Given the description of an element on the screen output the (x, y) to click on. 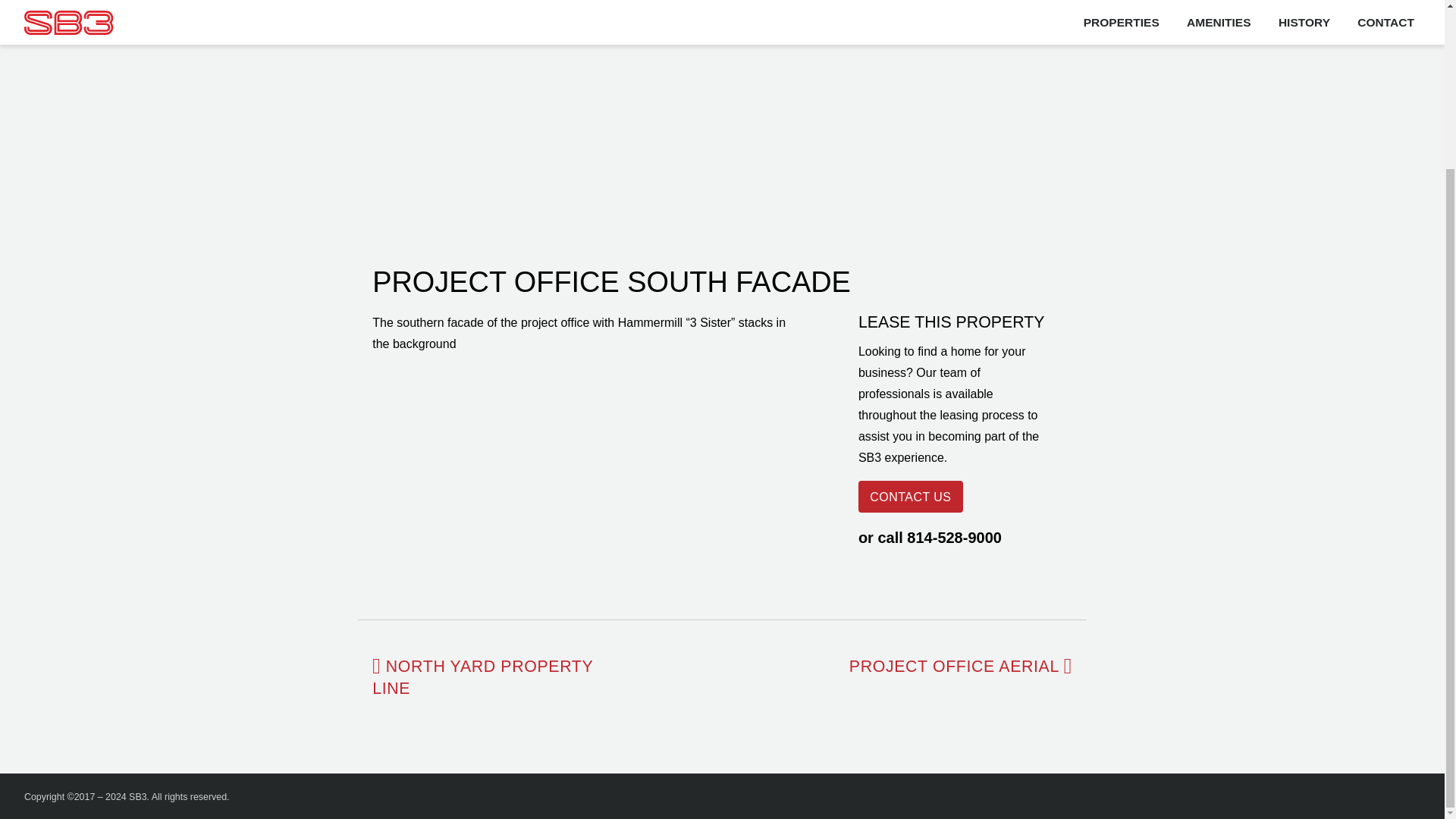
PROJECT OFFICE AERIAL (953, 666)
CONTACT US (910, 496)
NORTH YARD PROPERTY LINE (482, 677)
